Given the description of an element on the screen output the (x, y) to click on. 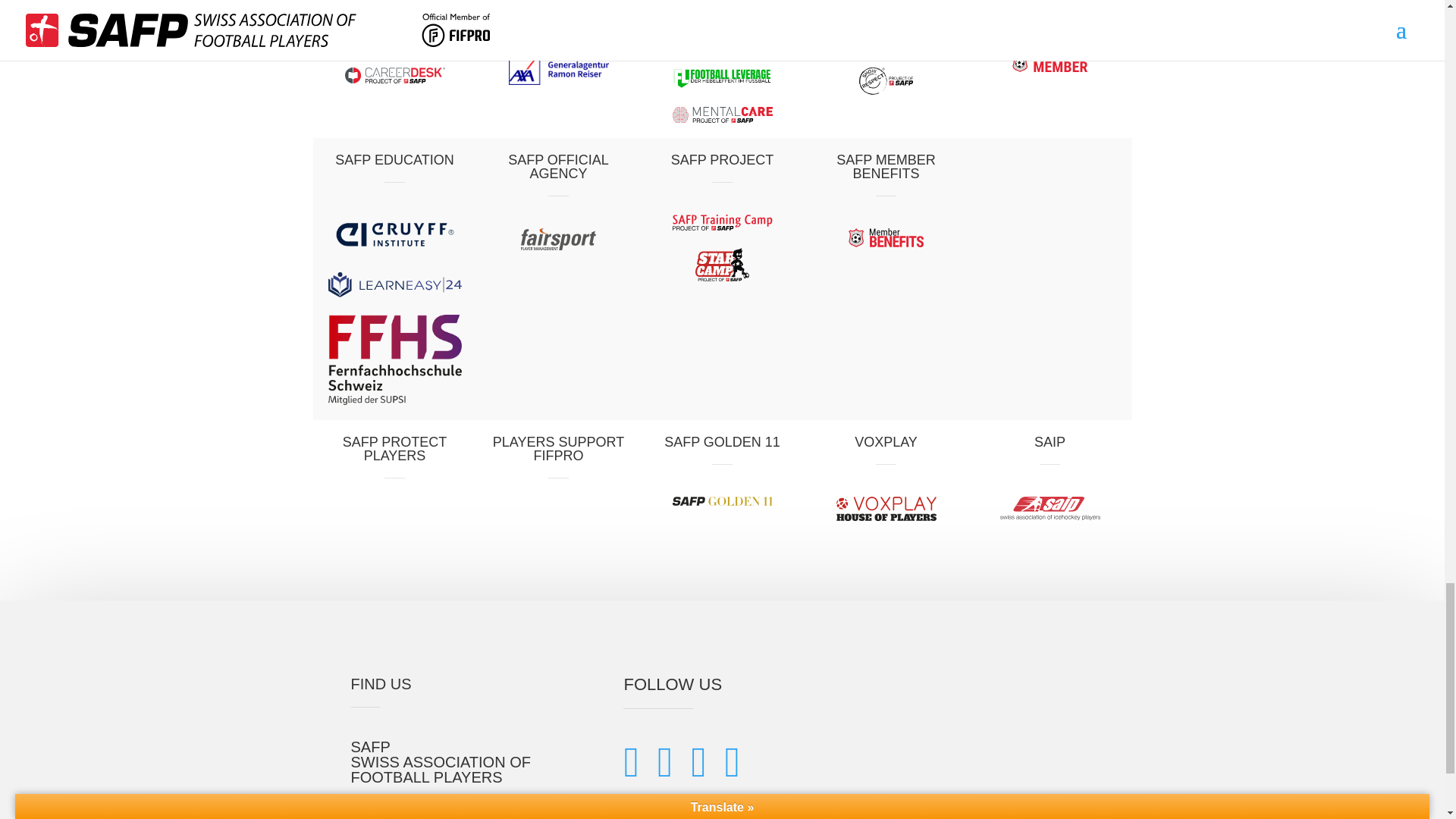
LearnEasy 24 (394, 284)
FFHS (394, 359)
Become a member (1049, 63)
AXA Generalgentur Ramon Reiser (558, 69)
SAFP Training Camp (721, 222)
